Given the description of an element on the screen output the (x, y) to click on. 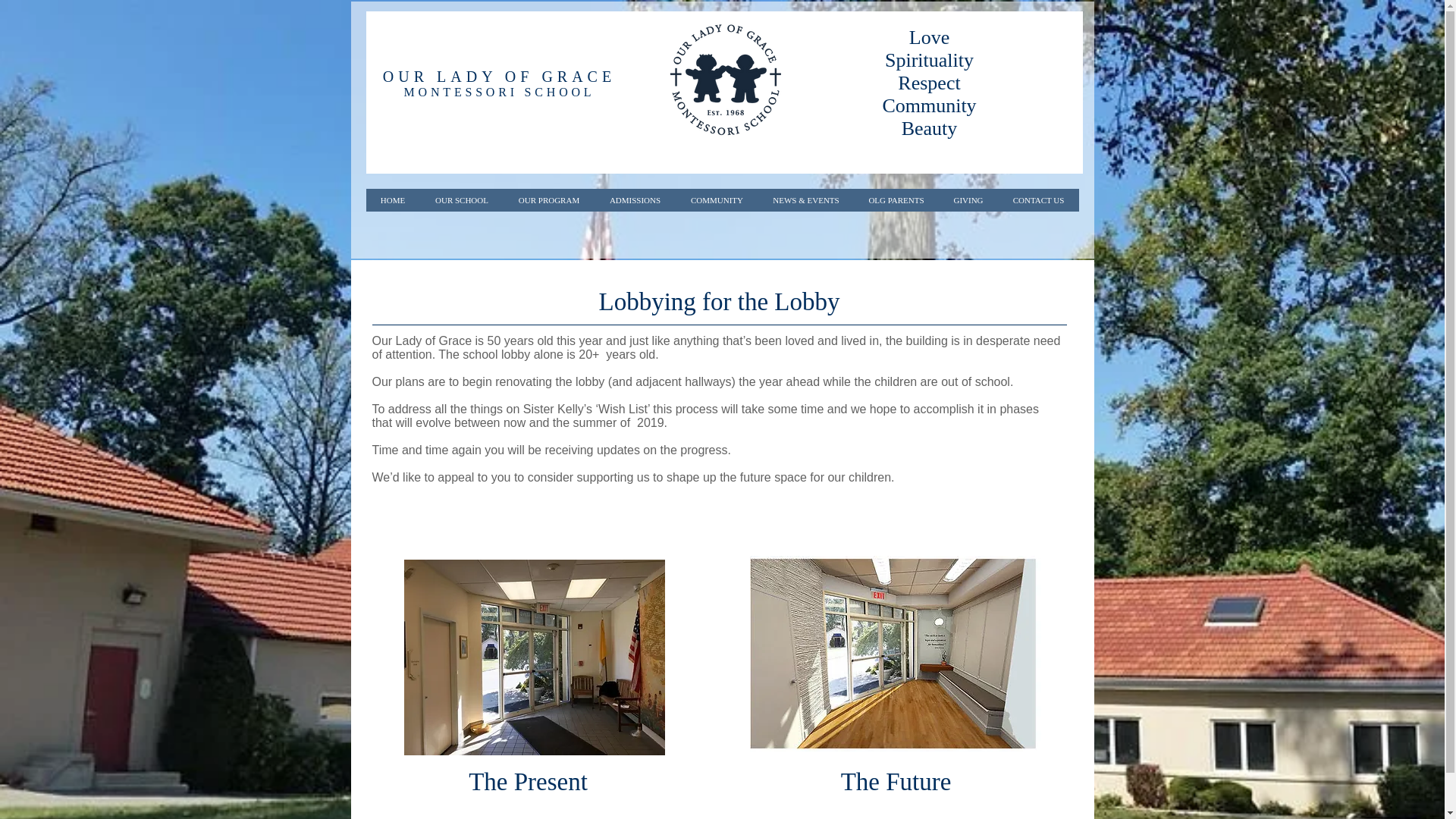
OLG PARENTS (896, 200)
ADMISSIONS (634, 200)
COMMUNITY (716, 200)
GIVING (968, 200)
HOME (392, 200)
CONTACT US (1037, 200)
OUR PROGRAM (548, 200)
OUR SCHOOL (461, 200)
